Given the description of an element on the screen output the (x, y) to click on. 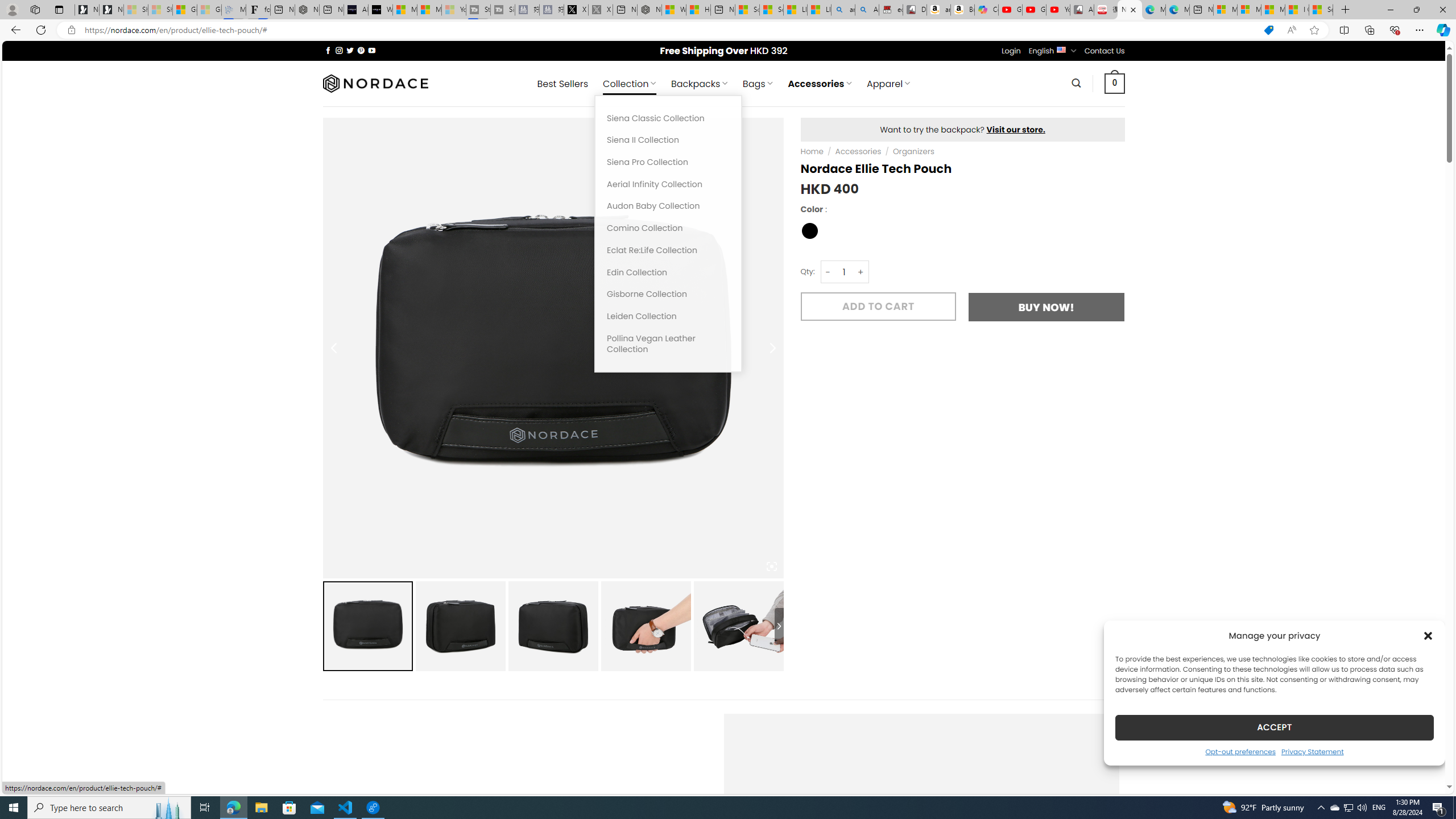
Gisborne Collection (668, 294)
Edin Collection (668, 272)
Eclat Re:Life Collection (668, 250)
Tab actions menu (58, 9)
Audon Baby Collection (668, 205)
Siena II Collection (668, 140)
Aerial Infinity Collection (668, 183)
amazon.in/dp/B0CX59H5W7/?tag=gsmcom05-21 (938, 9)
